Given the description of an element on the screen output the (x, y) to click on. 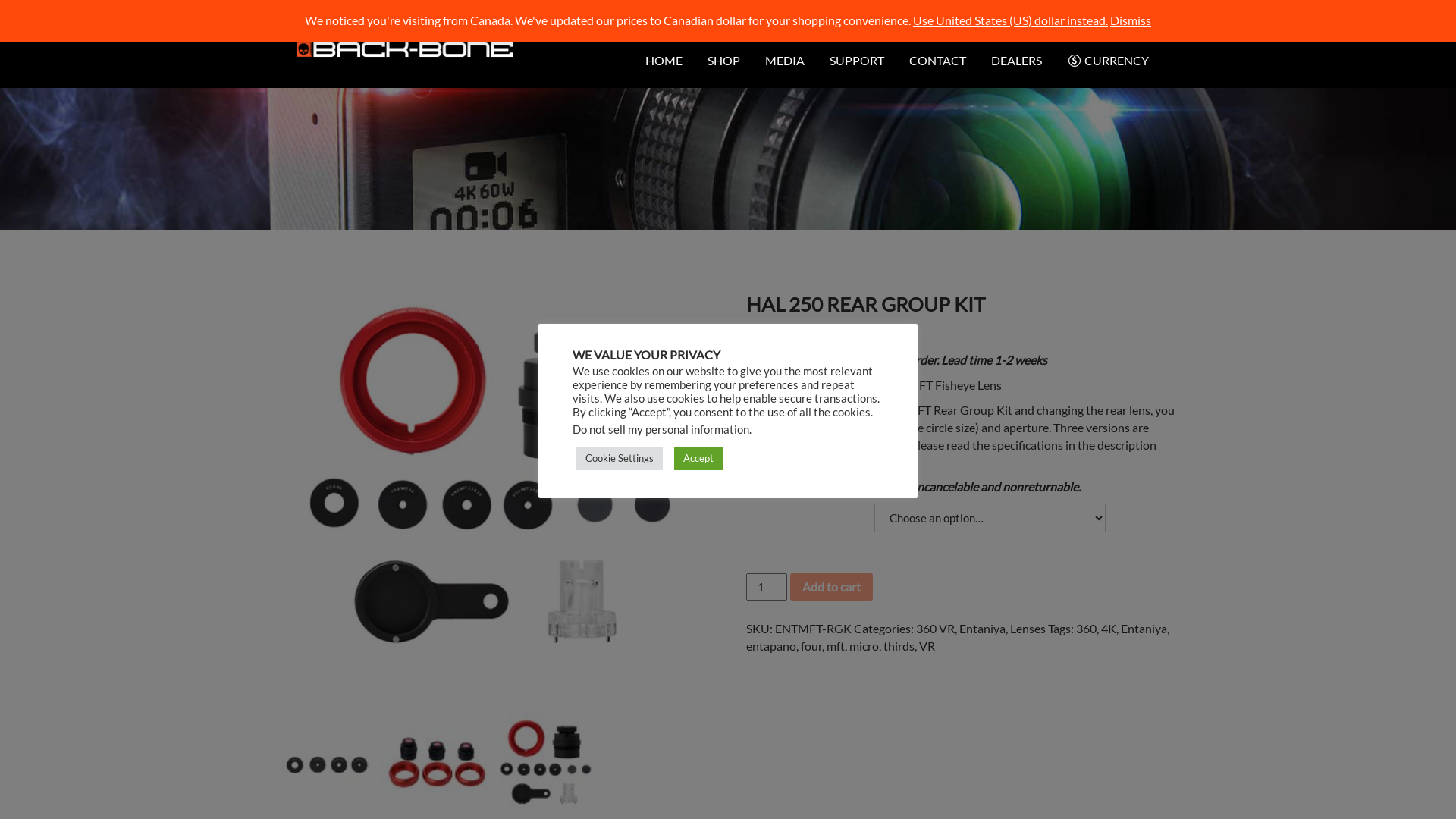
micro Element type: text (863, 645)
Add to cart Element type: text (831, 586)
0 ITEMS - $0.00 Element type: text (1005, 31)
CONTACT Element type: text (937, 60)
VR Element type: text (927, 645)
Accept Element type: text (698, 458)
360 Element type: text (1086, 628)
Cookie Settings Element type: text (619, 458)
Use United States (US) dollar instead. Element type: text (1010, 19)
Entaniya Element type: text (982, 628)
4K Element type: text (1108, 628)
SUPPORT Element type: text (856, 60)
HOME Element type: text (663, 60)
MEDIA Element type: text (784, 60)
DEALERS Element type: text (1016, 60)
Do not sell my personal information Element type: text (660, 429)
thirds Element type: text (898, 645)
Entaniya Element type: text (1143, 628)
mft Element type: text (835, 645)
LOGIN / REGISTER Element type: text (1102, 29)
Secure payment input frame Element type: hover (961, 622)
mft-rear-1 Element type: hover (491, 493)
Lenses Element type: text (1027, 628)
SHOP Element type: text (723, 60)
four Element type: text (811, 645)
CURRENCY Element type: text (1107, 60)
entapano Element type: text (771, 645)
360 VR Element type: text (935, 628)
Dismiss Element type: text (1130, 19)
